Given the description of an element on the screen output the (x, y) to click on. 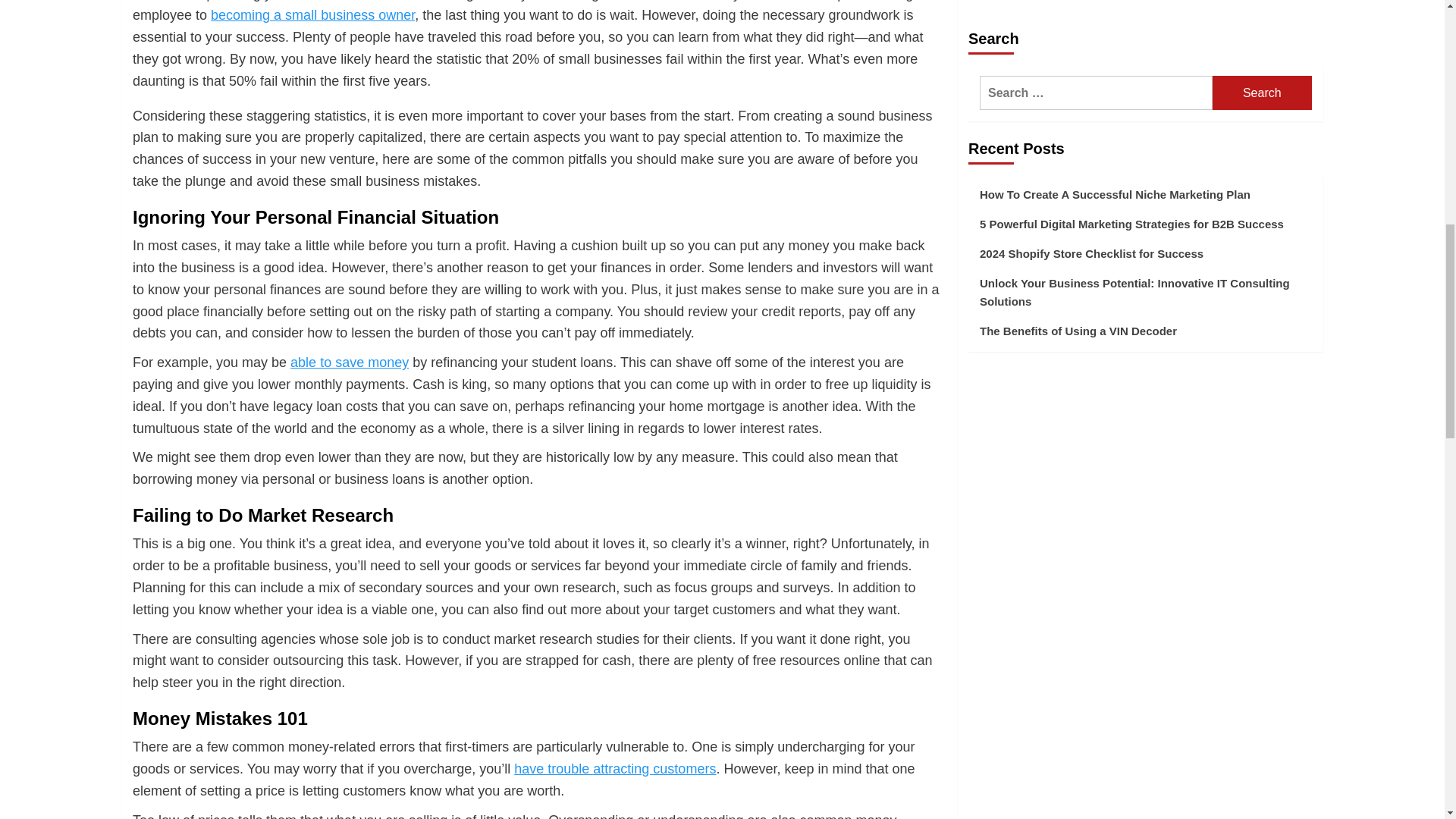
Advertisement (1145, 99)
Submit (1005, 411)
